Given the description of an element on the screen output the (x, y) to click on. 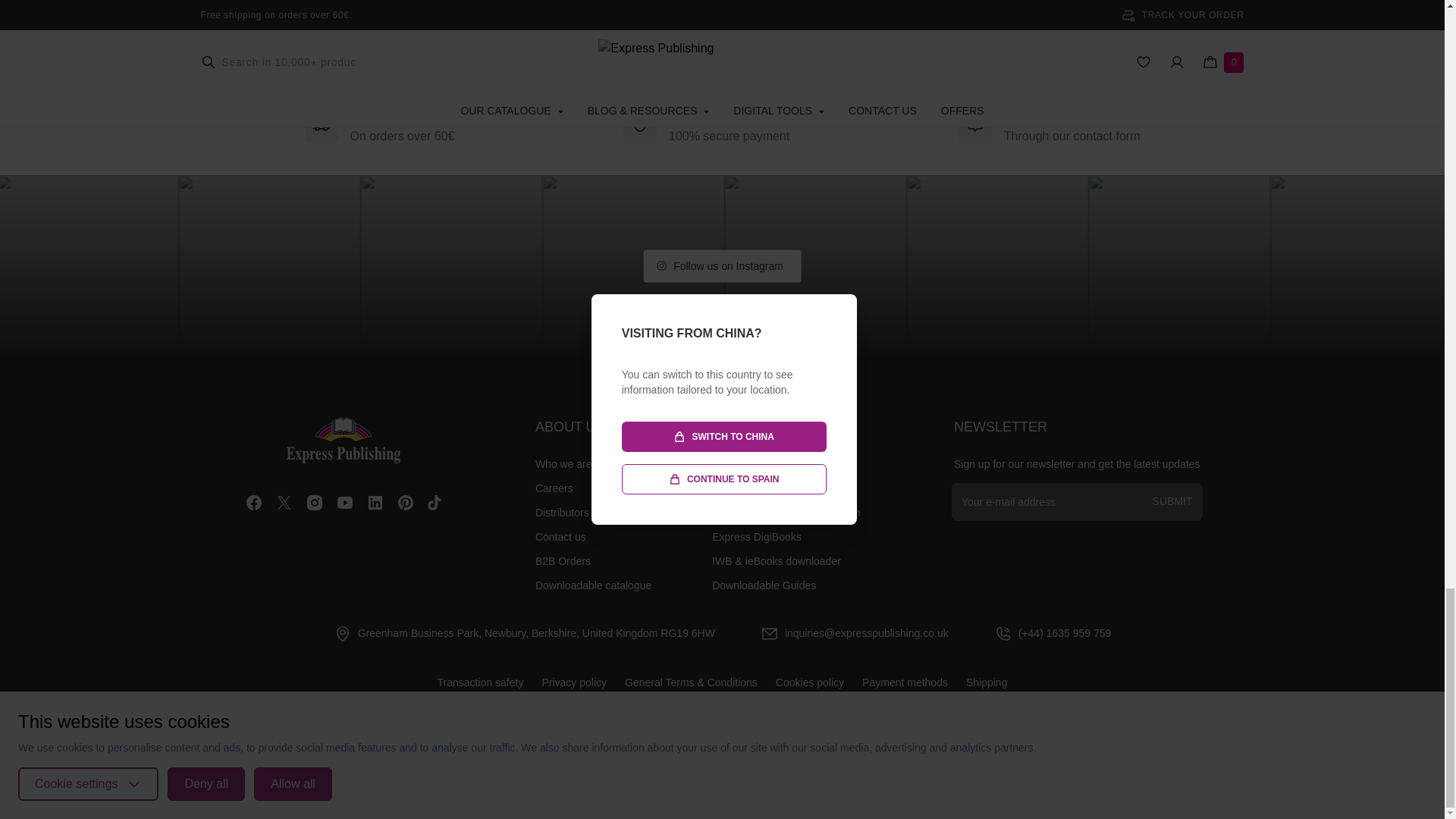
Linkedin (374, 502)
X (283, 502)
Express Publishing (343, 440)
Instagram (313, 502)
Facebook (253, 502)
Youtube (343, 502)
Follow us on Instagram (722, 265)
